Given the description of an element on the screen output the (x, y) to click on. 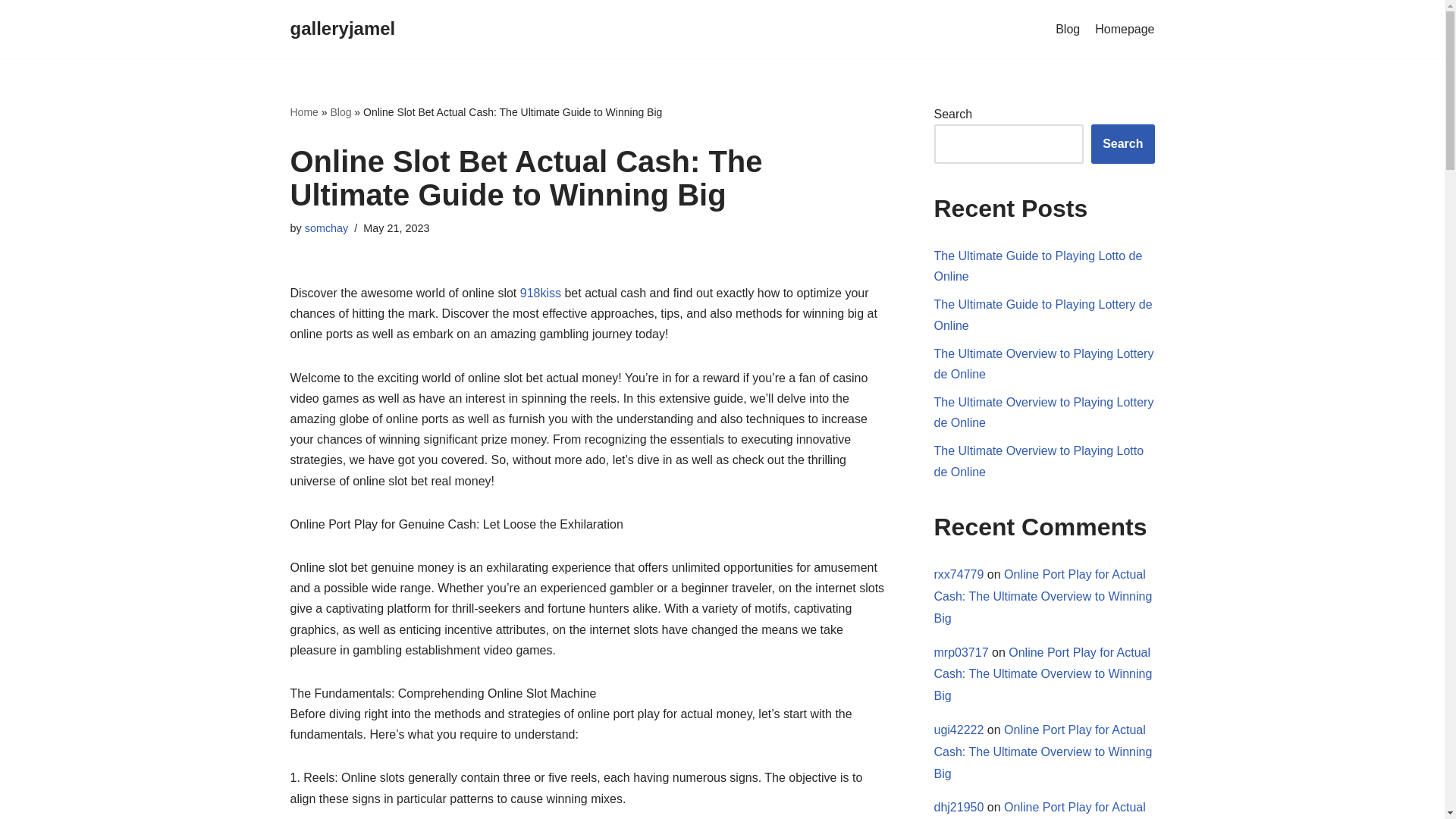
ugi42222 (959, 729)
The Ultimate Overview to Playing Lottery de Online (1044, 412)
galleryjamel (341, 29)
mrp03717 (961, 652)
Home (303, 111)
The Ultimate Guide to Playing Lotto de Online (1038, 265)
Homepage (1124, 29)
Posts by somchay (326, 227)
rxx74779 (959, 574)
Skip to content (11, 31)
918kiss (539, 292)
Blog (340, 111)
